Given the description of an element on the screen output the (x, y) to click on. 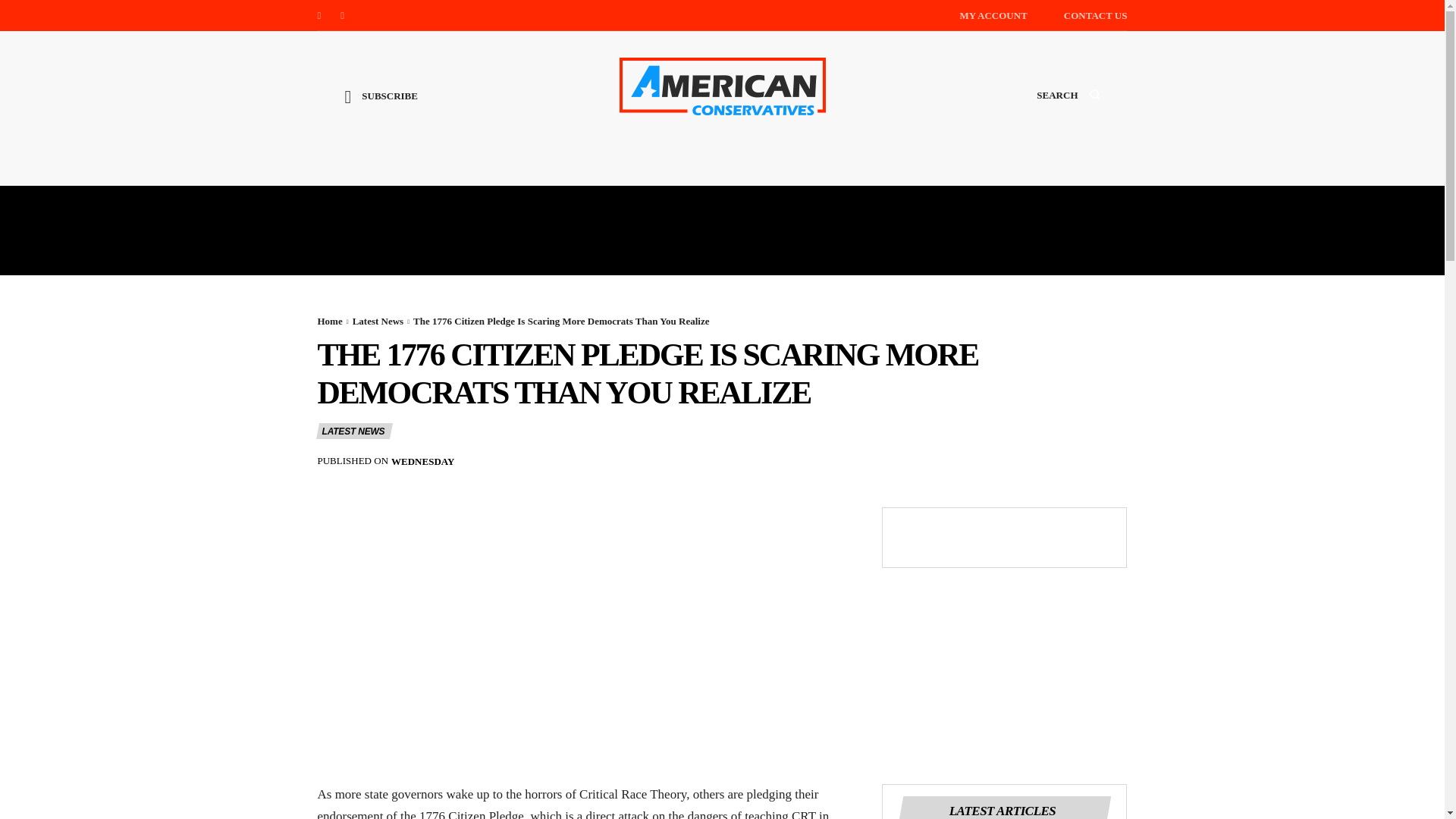
MY ACCOUNT (992, 15)
Home (329, 320)
My Account (992, 15)
CONTACT US (1095, 15)
Subscribe (380, 107)
Twitter (342, 15)
SUBSCRIBE (380, 107)
Facebook (318, 15)
View all posts in Latest News (378, 320)
SEARCH (1067, 109)
Search (1067, 109)
LATEST NEWS (353, 430)
Contact Us (1095, 15)
Latest News (378, 320)
